Given the description of an element on the screen output the (x, y) to click on. 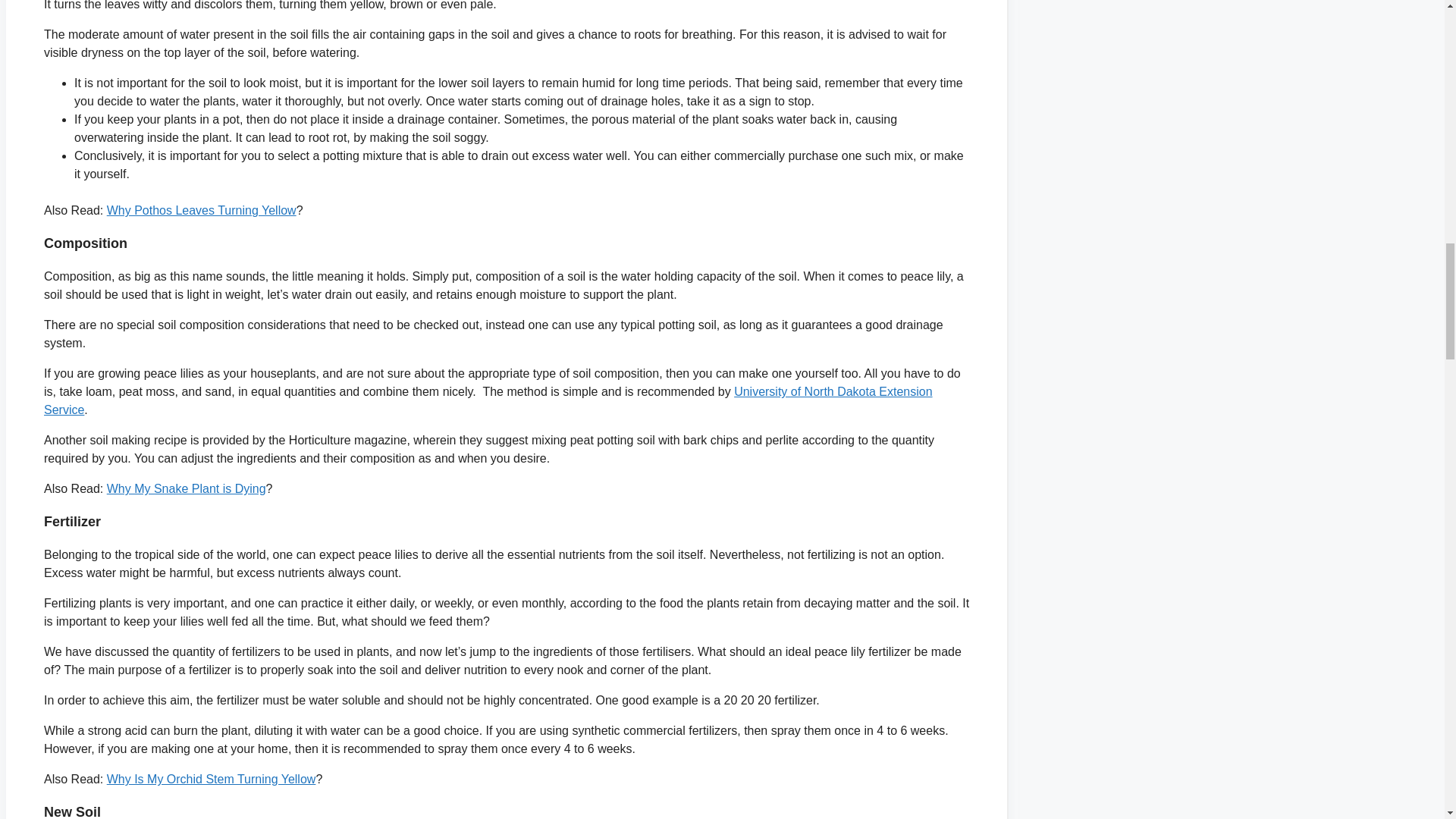
Why Is My Orchid Stem Turning Yellow (210, 779)
Why Pothos Leaves Turning Yellow? (201, 210)
Why Is My Orchid Stem Turning Yellow? (210, 779)
University of North Dakota Extension Service (488, 400)
Why Pothos Leaves Turning Yellow (201, 210)
Why My Snake Plant is Dying (186, 488)
